Given the description of an element on the screen output the (x, y) to click on. 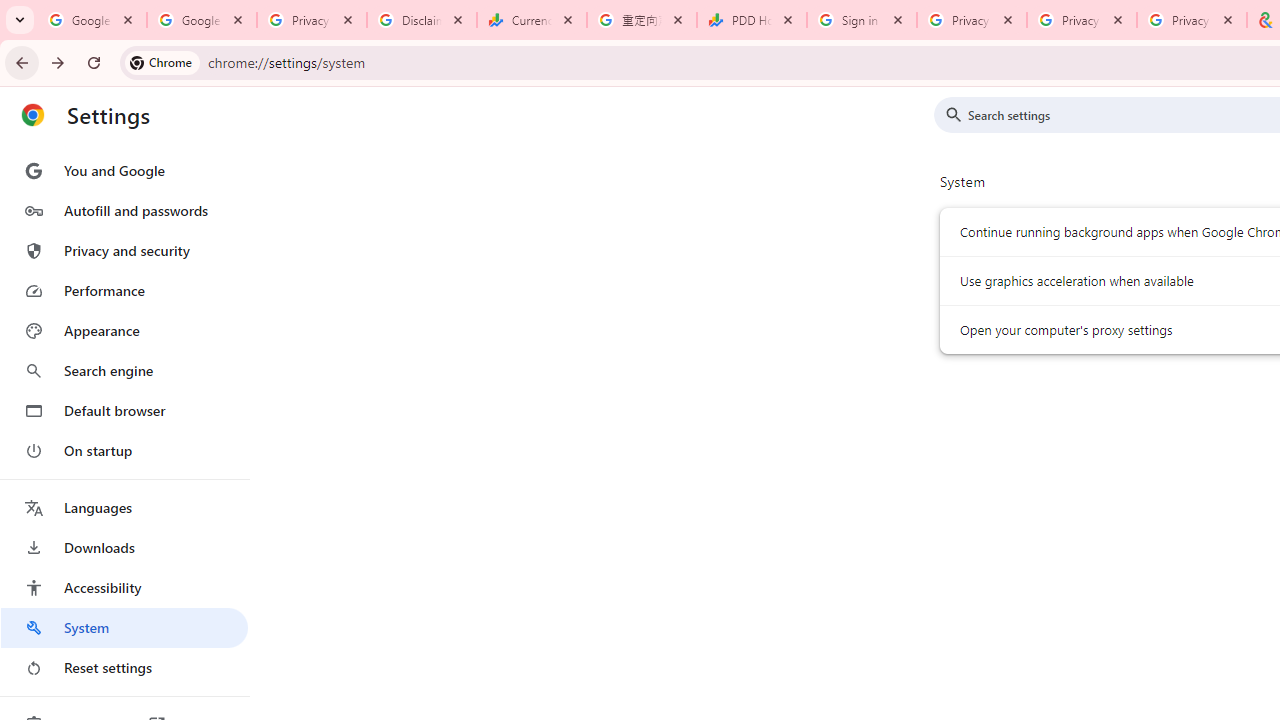
Google Workspace Admin Community (92, 20)
Default browser (124, 410)
Accessibility (124, 587)
Search engine (124, 370)
Sign in - Google Accounts (861, 20)
Autofill and passwords (124, 210)
Privacy Checkup (1081, 20)
PDD Holdings Inc - ADR (PDD) Price & News - Google Finance (752, 20)
Downloads (124, 547)
On startup (124, 450)
